Given the description of an element on the screen output the (x, y) to click on. 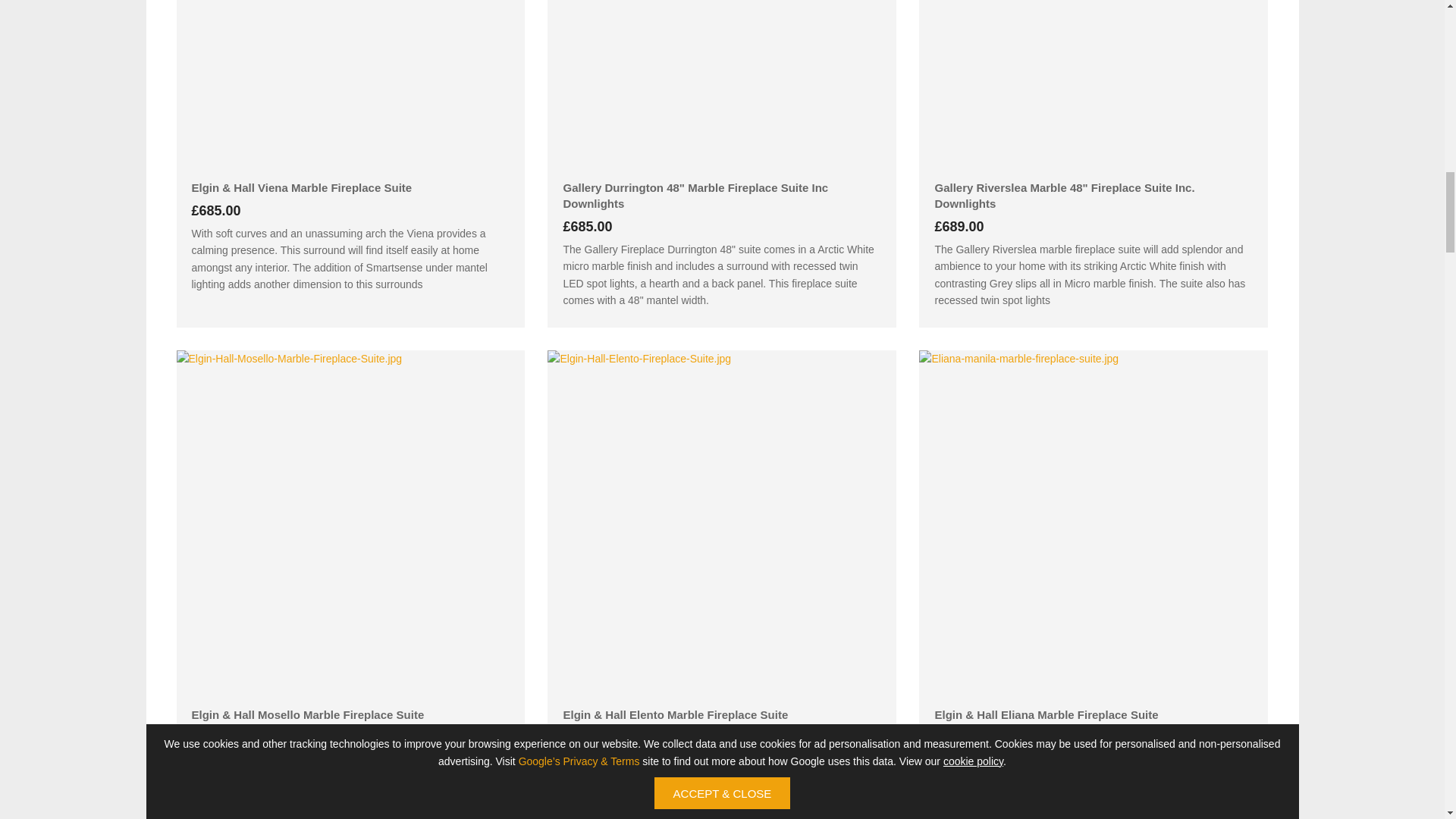
Gallery Durrington 48" Marble Fireplace Suite Inc Downlights (721, 195)
Gallery Durrington 48" Marble Fireplace Suite Inc Downlights (721, 85)
